Given the description of an element on the screen output the (x, y) to click on. 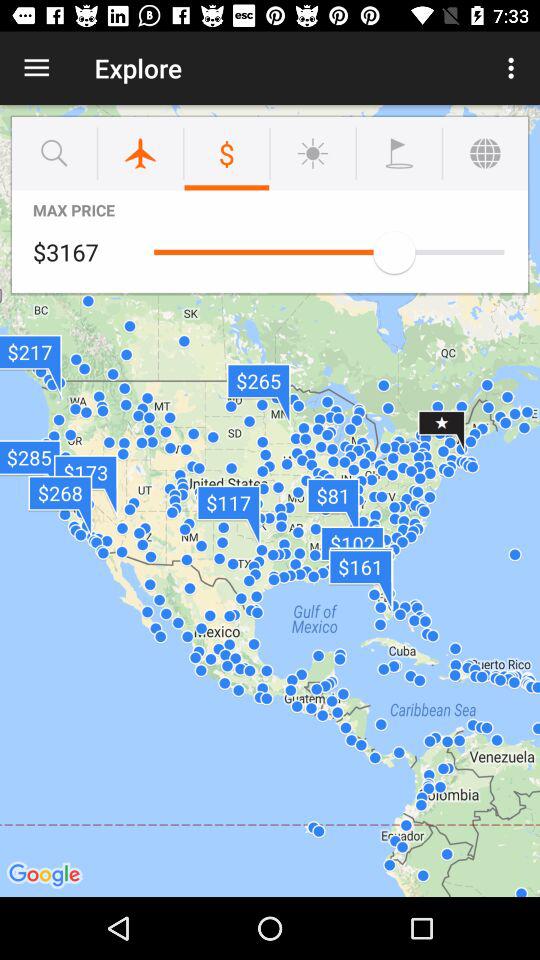
choose item to the left of explore item (36, 68)
